Given the description of an element on the screen output the (x, y) to click on. 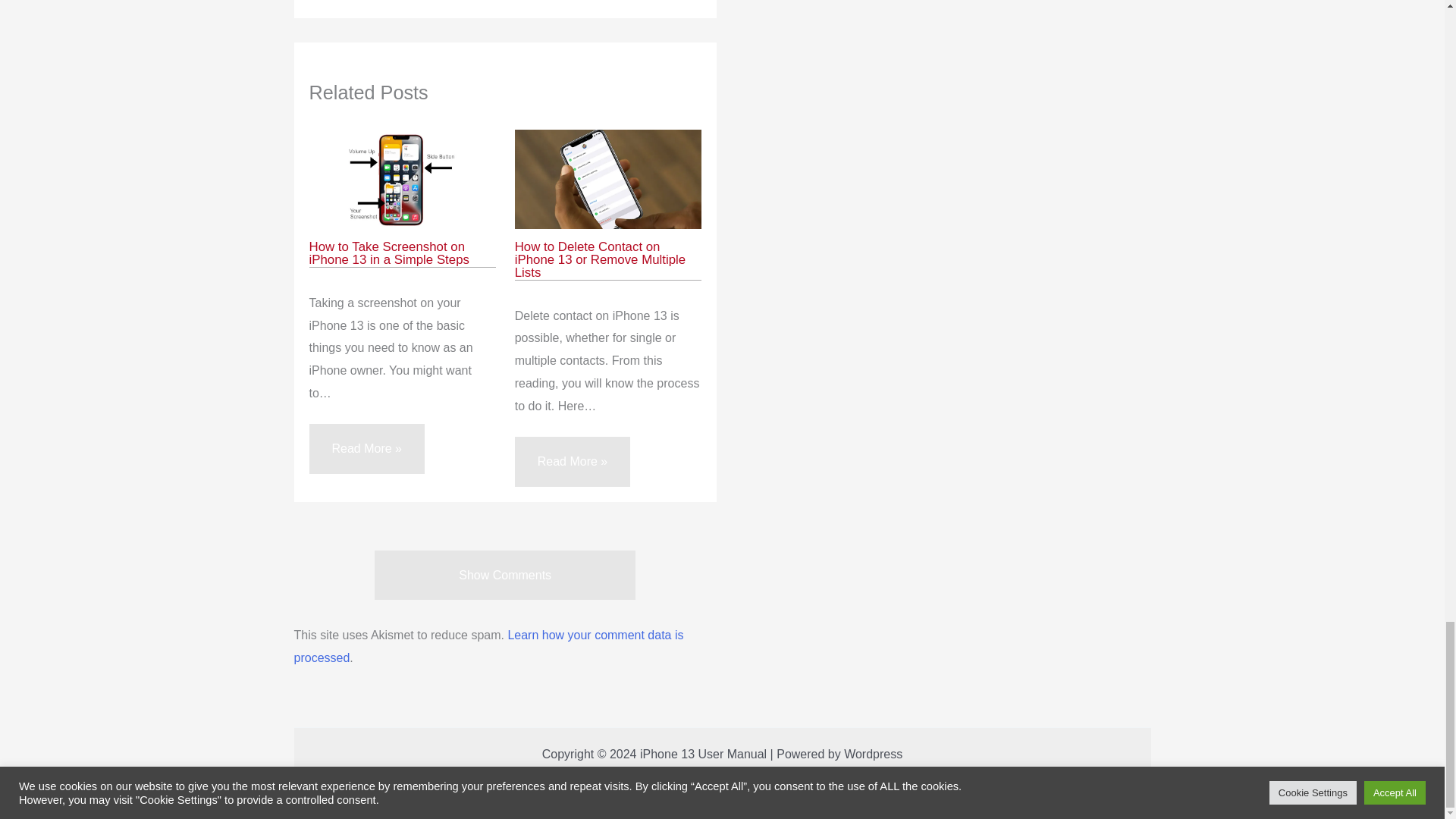
How to Take Screenshot on iPhone 13 in a Simple Steps (388, 252)
How to Delete Contact on iPhone 13 or Remove Multiple Lists (600, 259)
Learn how your comment data is processed (489, 646)
